Given the description of an element on the screen output the (x, y) to click on. 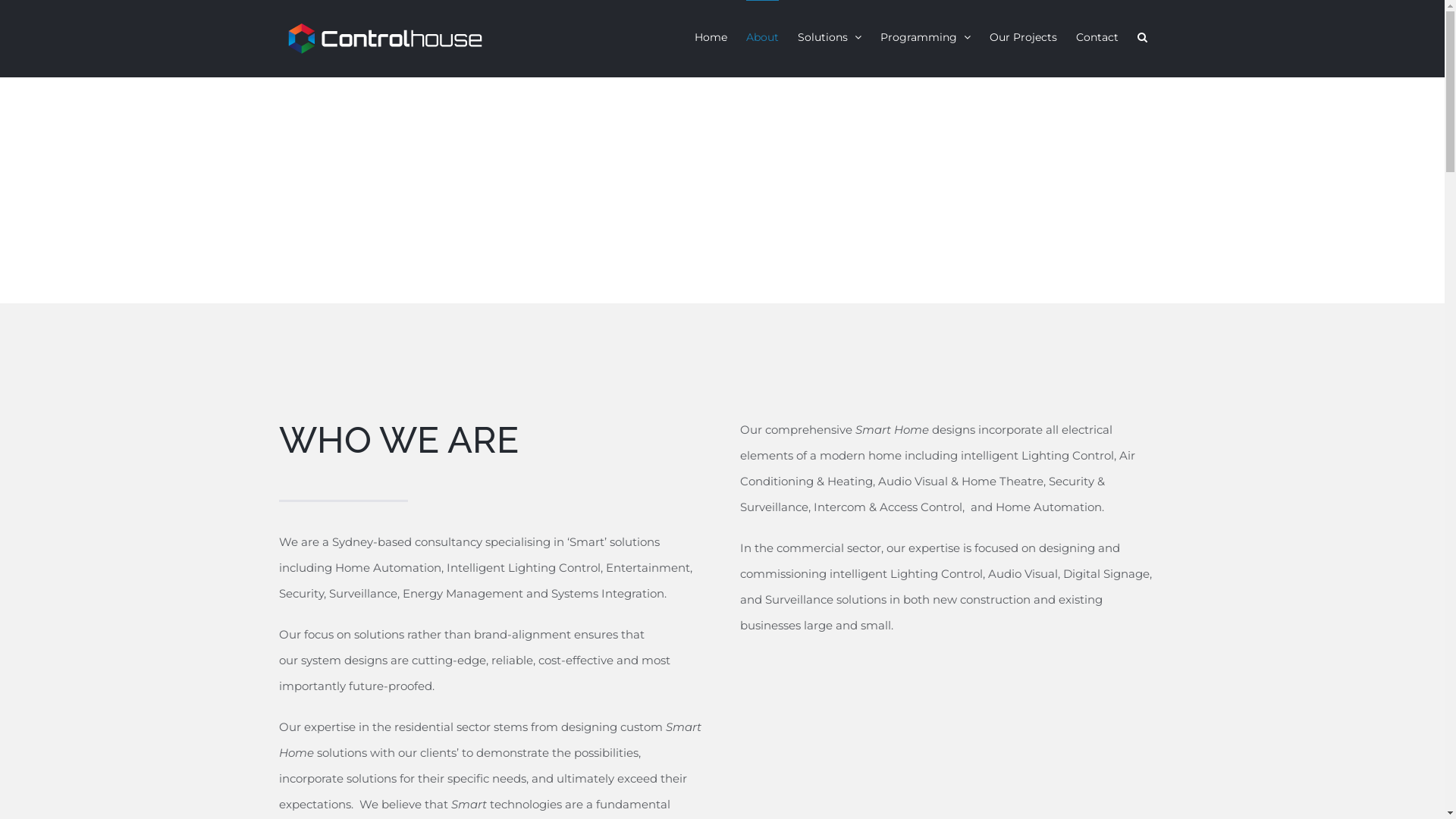
About Element type: text (762, 36)
Solutions Element type: text (829, 36)
Our Projects Element type: text (1022, 36)
Search Element type: hover (1142, 36)
Contact Element type: text (1096, 36)
Programming Element type: text (924, 36)
Home Element type: text (710, 36)
